Given the description of an element on the screen output the (x, y) to click on. 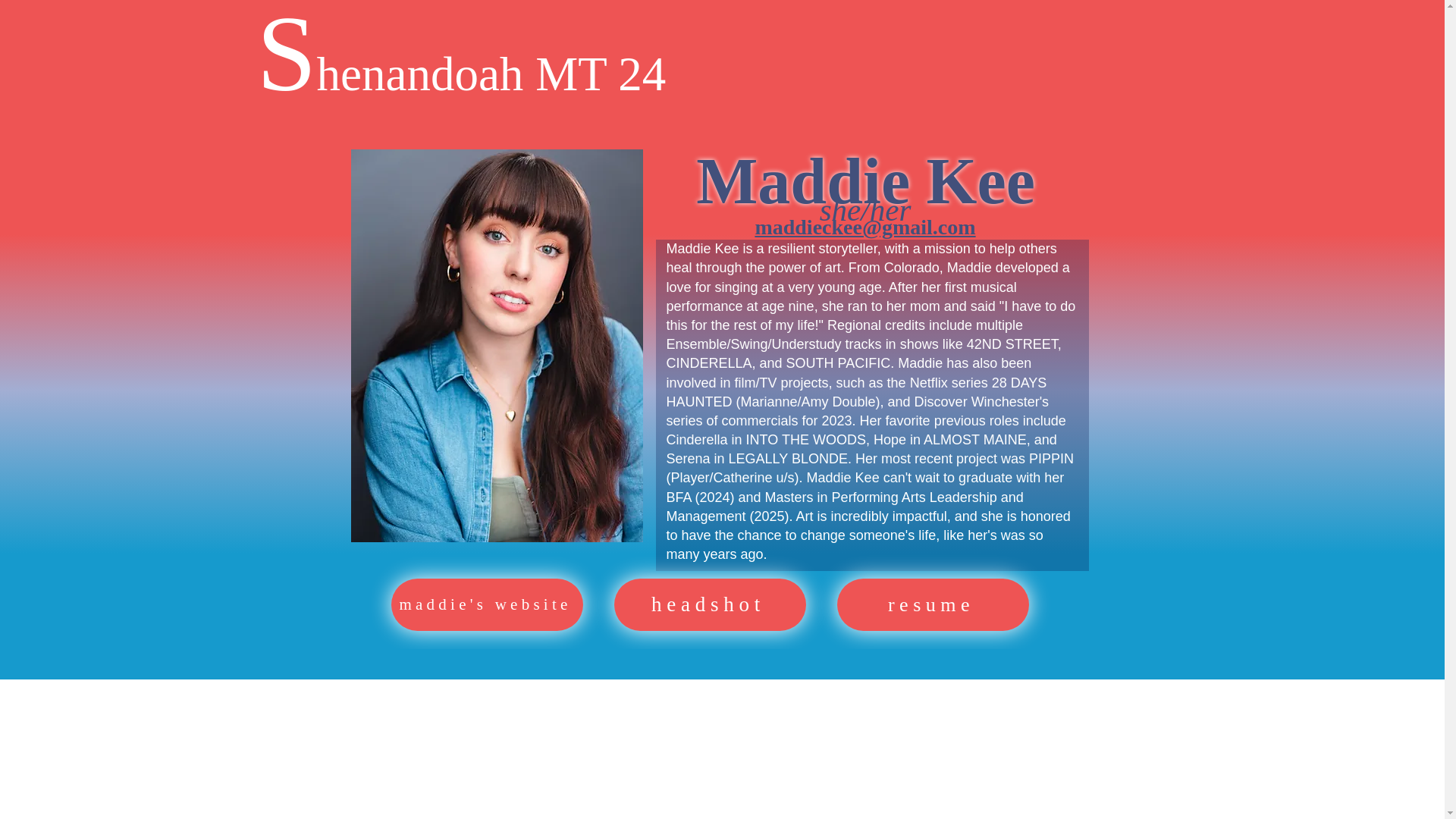
Shenandoah MT 24 (460, 72)
resume (933, 604)
headshot (710, 604)
maddie's website (487, 604)
